Given the description of an element on the screen output the (x, y) to click on. 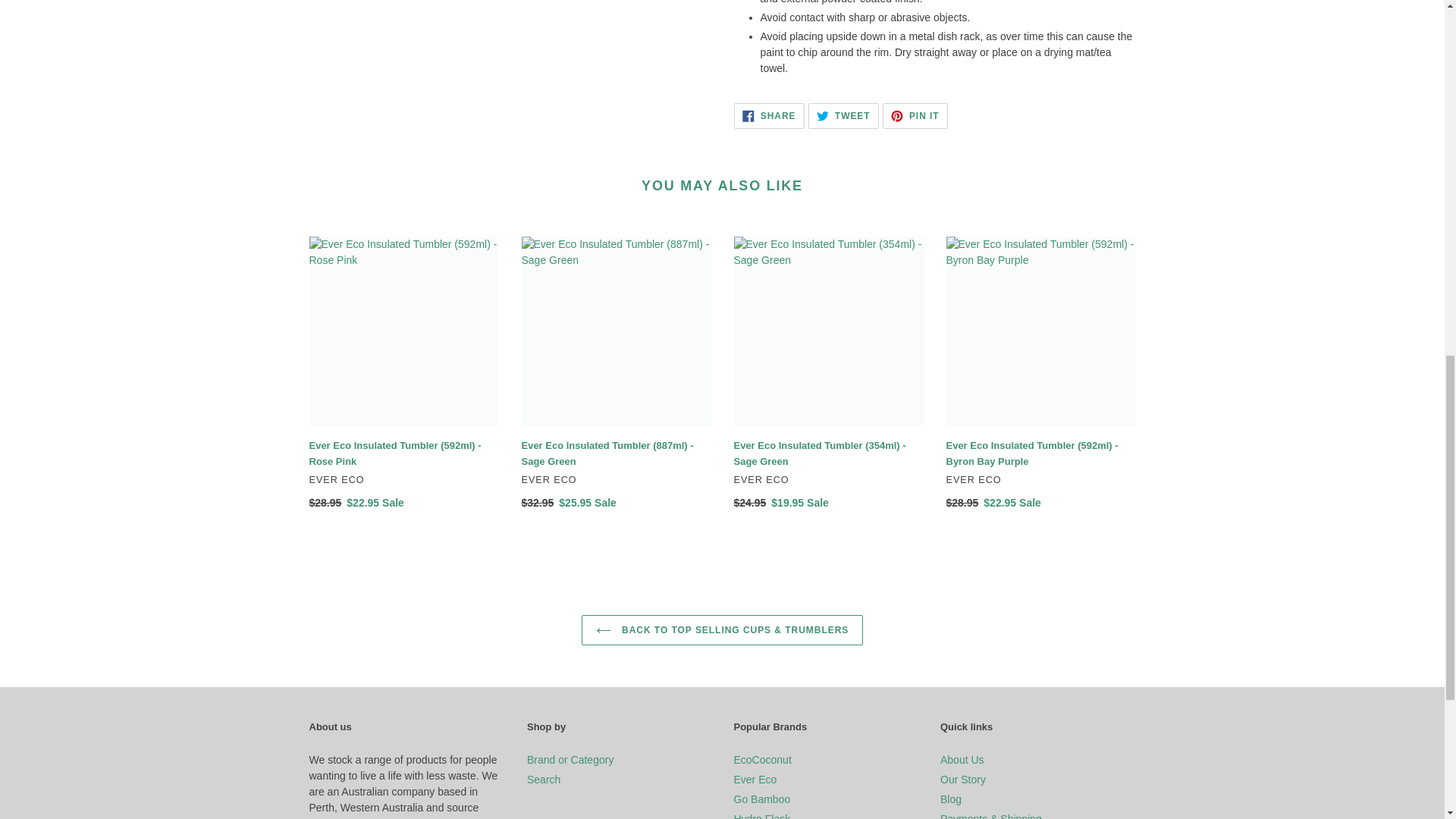
Brand or Category (914, 115)
Search (569, 759)
